Given the description of an element on the screen output the (x, y) to click on. 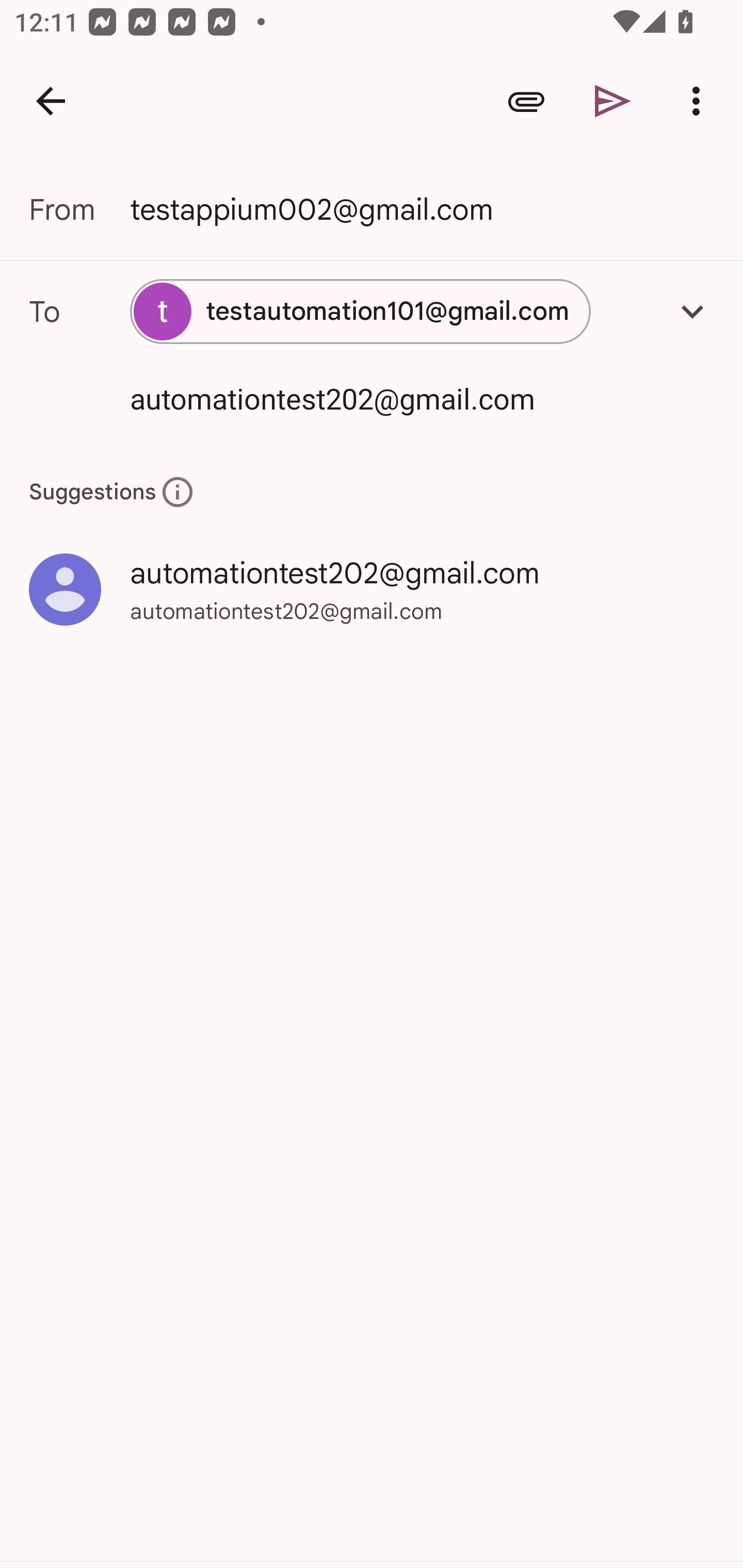
Navigate up (50, 101)
Attach file (525, 101)
Send (612, 101)
More options (699, 101)
From (79, 209)
Add Cc/Bcc (692, 311)
automationtest202@gmail.com (393, 398)
